Given the description of an element on the screen output the (x, y) to click on. 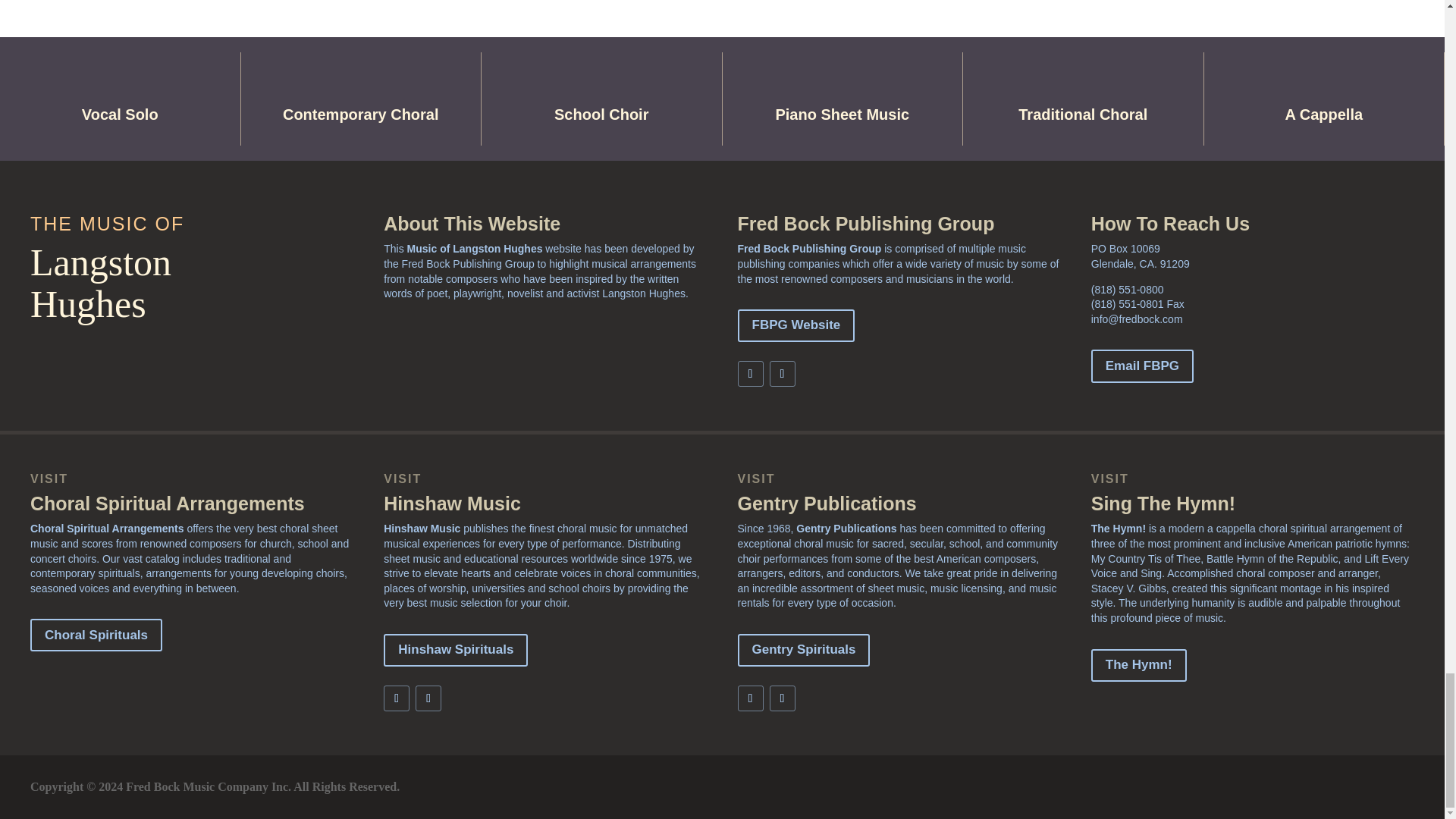
School Choir (600, 114)
Traditional Choral (1082, 114)
Piano Sheet Music (841, 114)
Follow on Instagram (427, 698)
Follow on Facebook (749, 698)
Follow on Instagram (781, 698)
Follow on Facebook (749, 373)
Contemporary Choral (360, 114)
Vocal Solo (119, 114)
Follow on Facebook (396, 698)
